Given the description of an element on the screen output the (x, y) to click on. 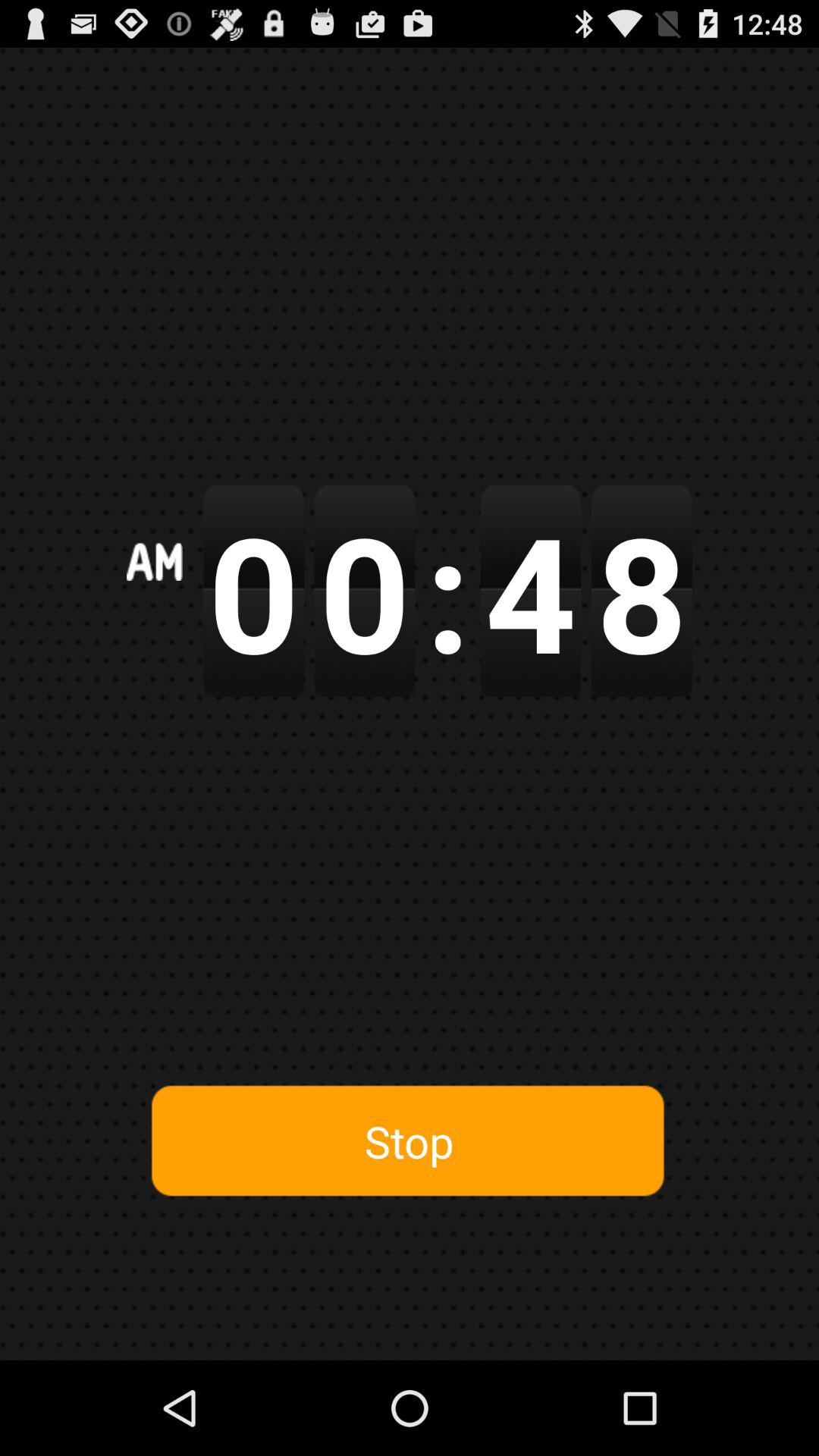
launch button at the bottom (408, 1141)
